Given the description of an element on the screen output the (x, y) to click on. 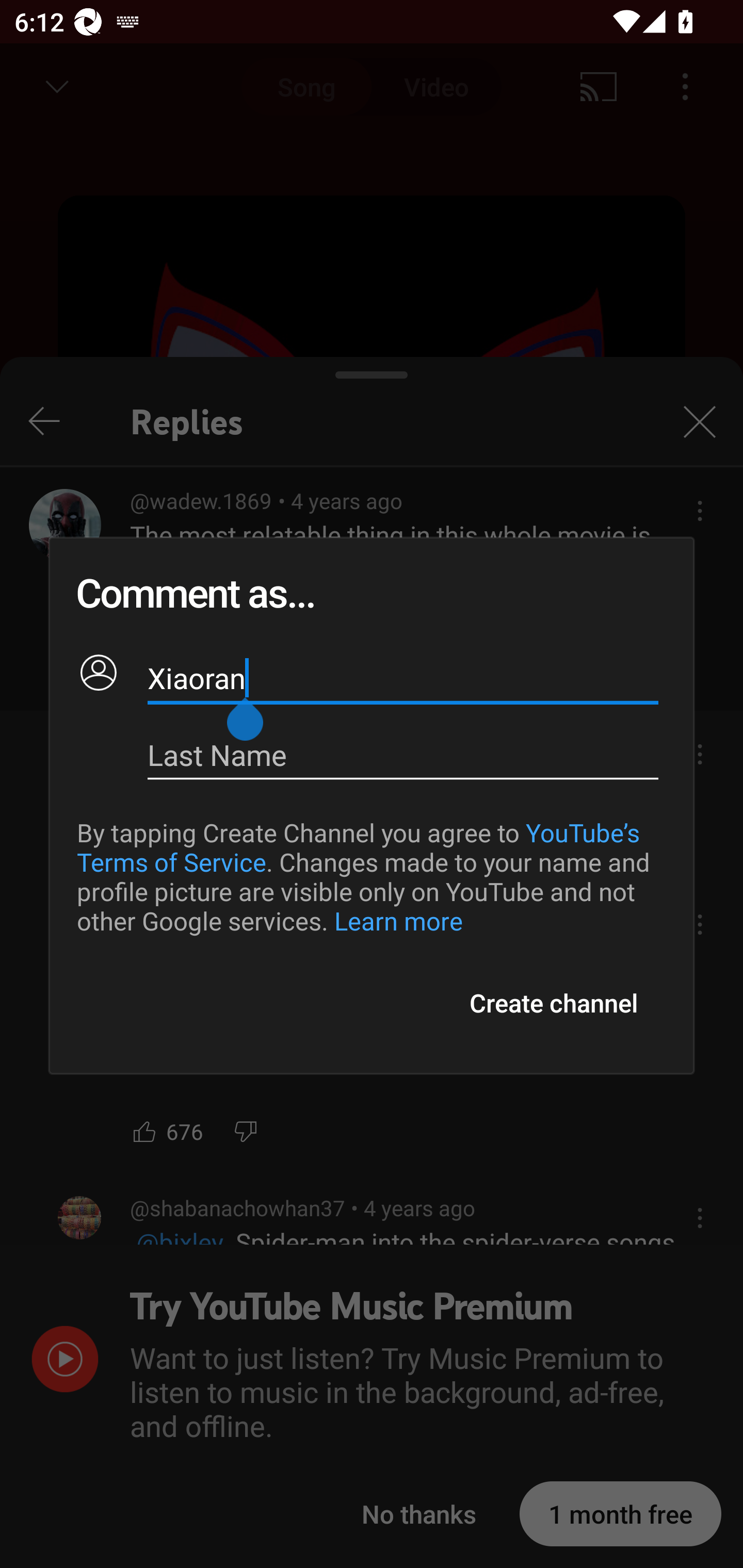
Xiaoran (403, 677)
Last Name (403, 754)
Create channel (552, 1002)
